Given the description of an element on the screen output the (x, y) to click on. 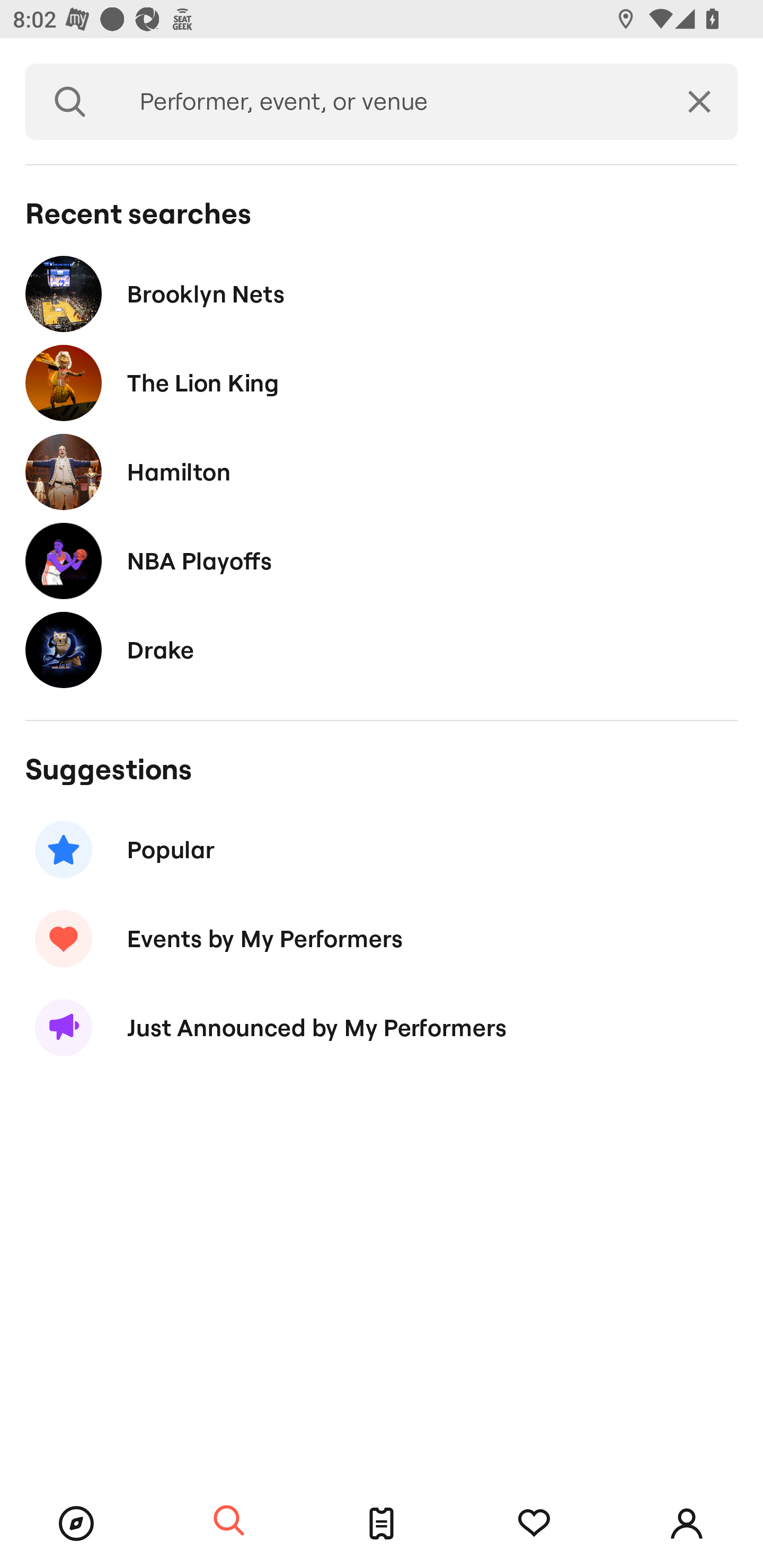
Search (69, 101)
Performer, event, or venue (387, 101)
Clear (699, 101)
Brooklyn Nets (381, 293)
The Lion King (381, 383)
Hamilton (381, 471)
NBA Playoffs (381, 560)
Drake (381, 649)
Popular (381, 849)
Events by My Performers (381, 938)
Just Announced by My Performers (381, 1027)
Browse (76, 1523)
Search (228, 1521)
Tickets (381, 1523)
Tracking (533, 1523)
Account (686, 1523)
